Given the description of an element on the screen output the (x, y) to click on. 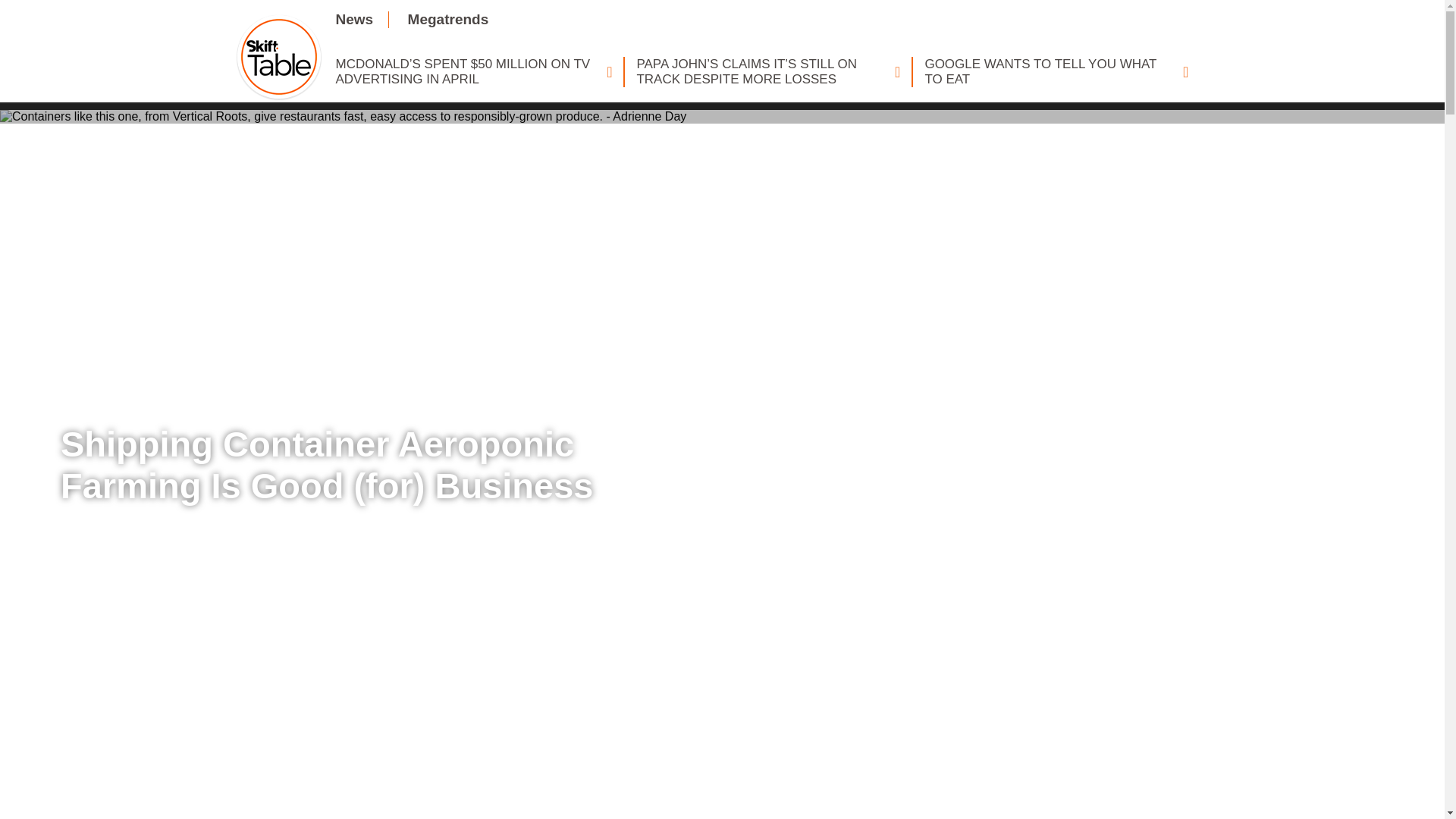
FOOD (96, 397)
News (353, 19)
Megatrends (448, 19)
GOOGLE WANTS TO TELL YOU WHAT TO EAT (1055, 71)
